Given the description of an element on the screen output the (x, y) to click on. 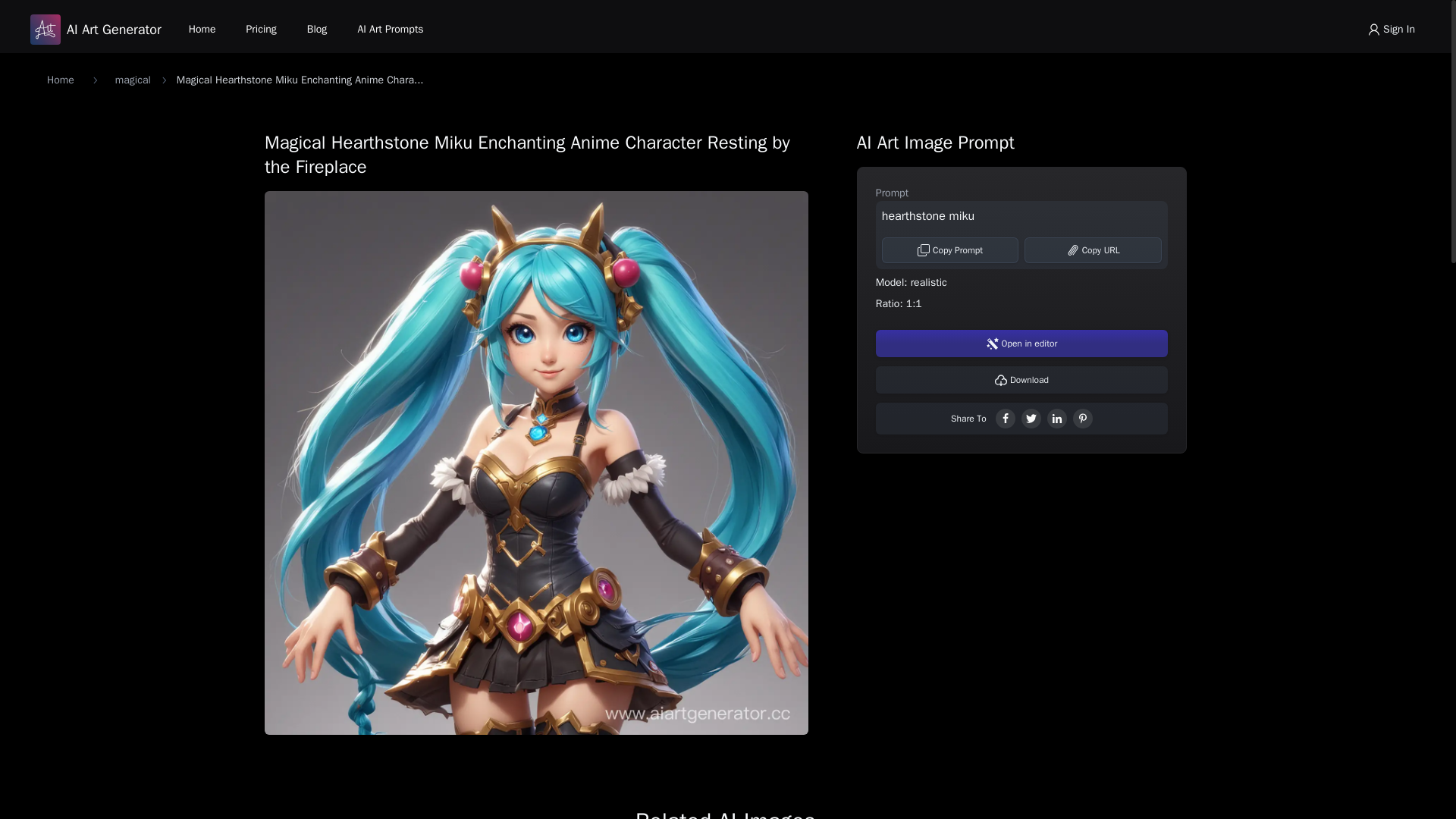
Blog (317, 29)
Pricing (261, 29)
magical (133, 79)
Home (202, 29)
Home (60, 79)
Copy Prompt (950, 249)
AI Art Generator (95, 29)
Copy URL (1093, 249)
Sign In (1391, 29)
AI Art Prompts (389, 29)
